Given the description of an element on the screen output the (x, y) to click on. 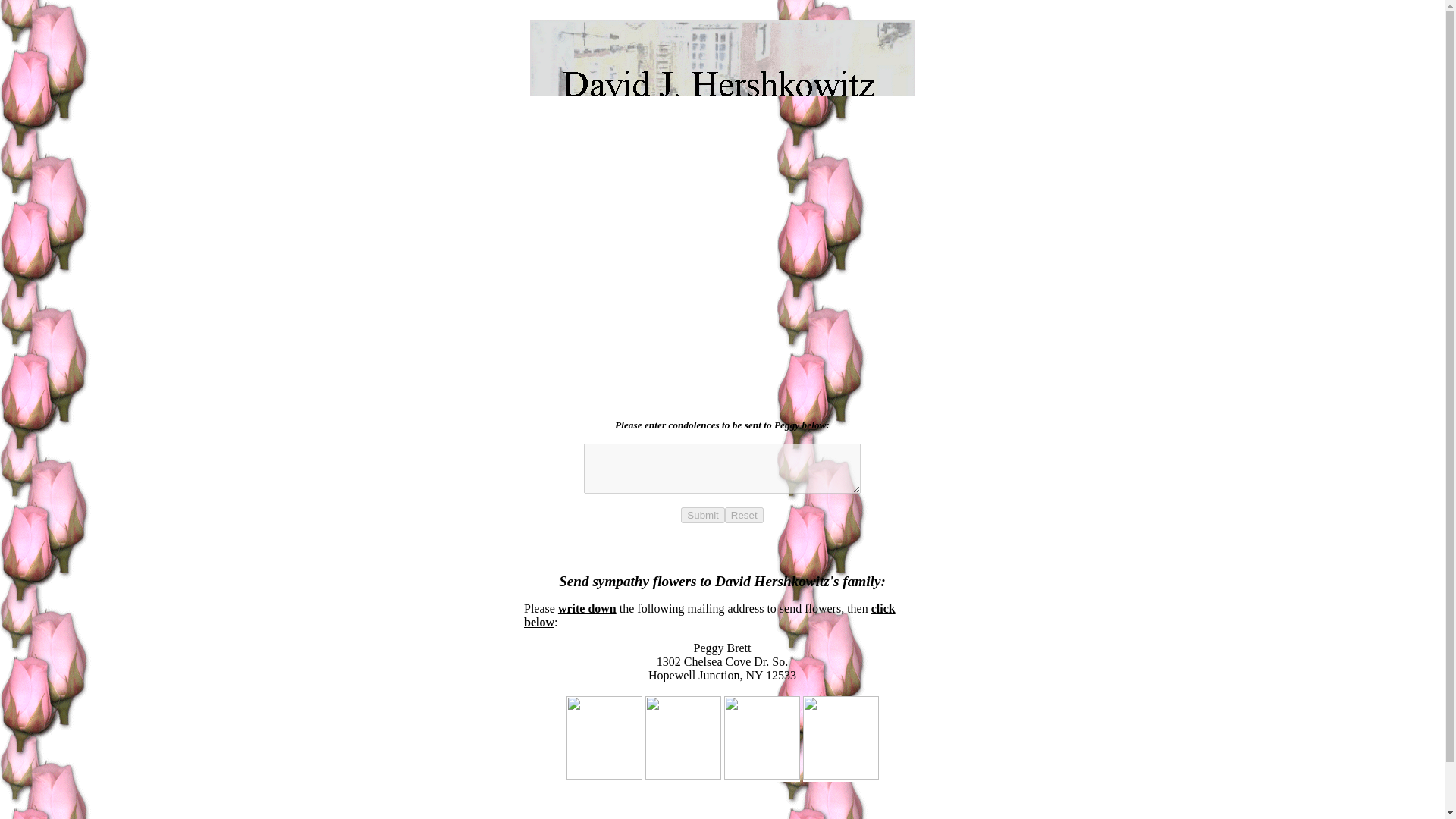
Submit (702, 514)
Submit (702, 514)
Reset (743, 514)
